Given the description of an element on the screen output the (x, y) to click on. 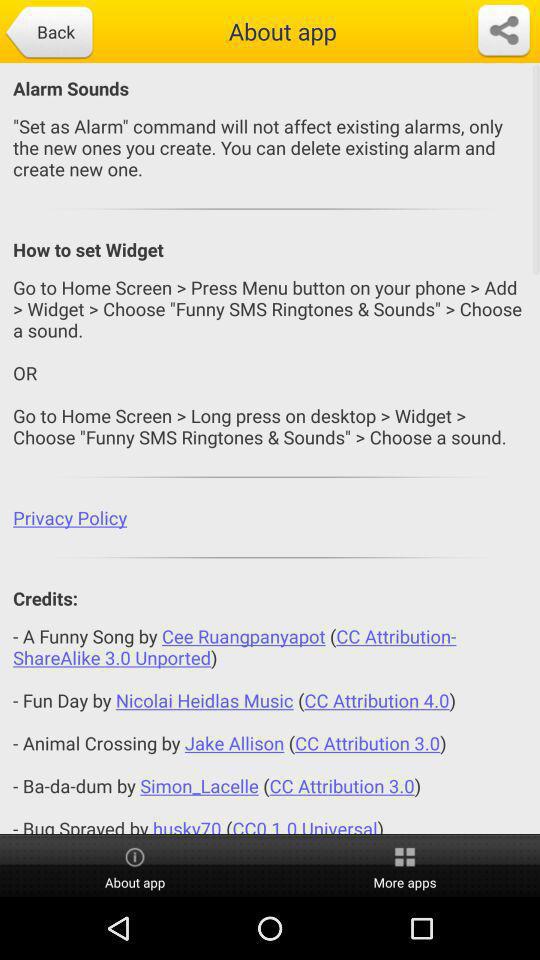
click the item at the bottom right corner (405, 866)
